Given the description of an element on the screen output the (x, y) to click on. 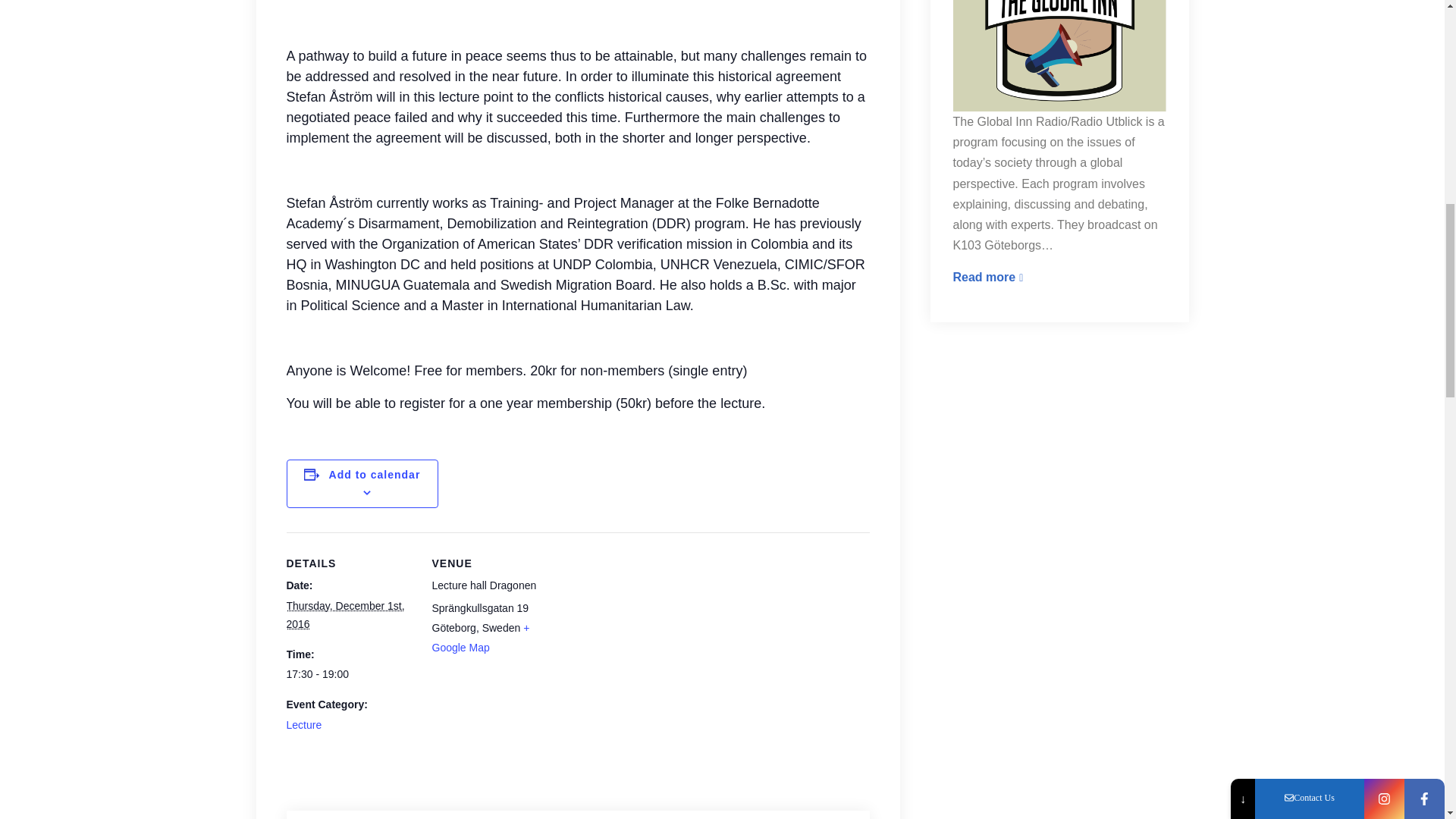
Add to calendar (374, 474)
2016-12-01 (349, 674)
Lecture (303, 725)
Click to view a Google Map (480, 637)
2016-12-01 (345, 614)
